Given the description of an element on the screen output the (x, y) to click on. 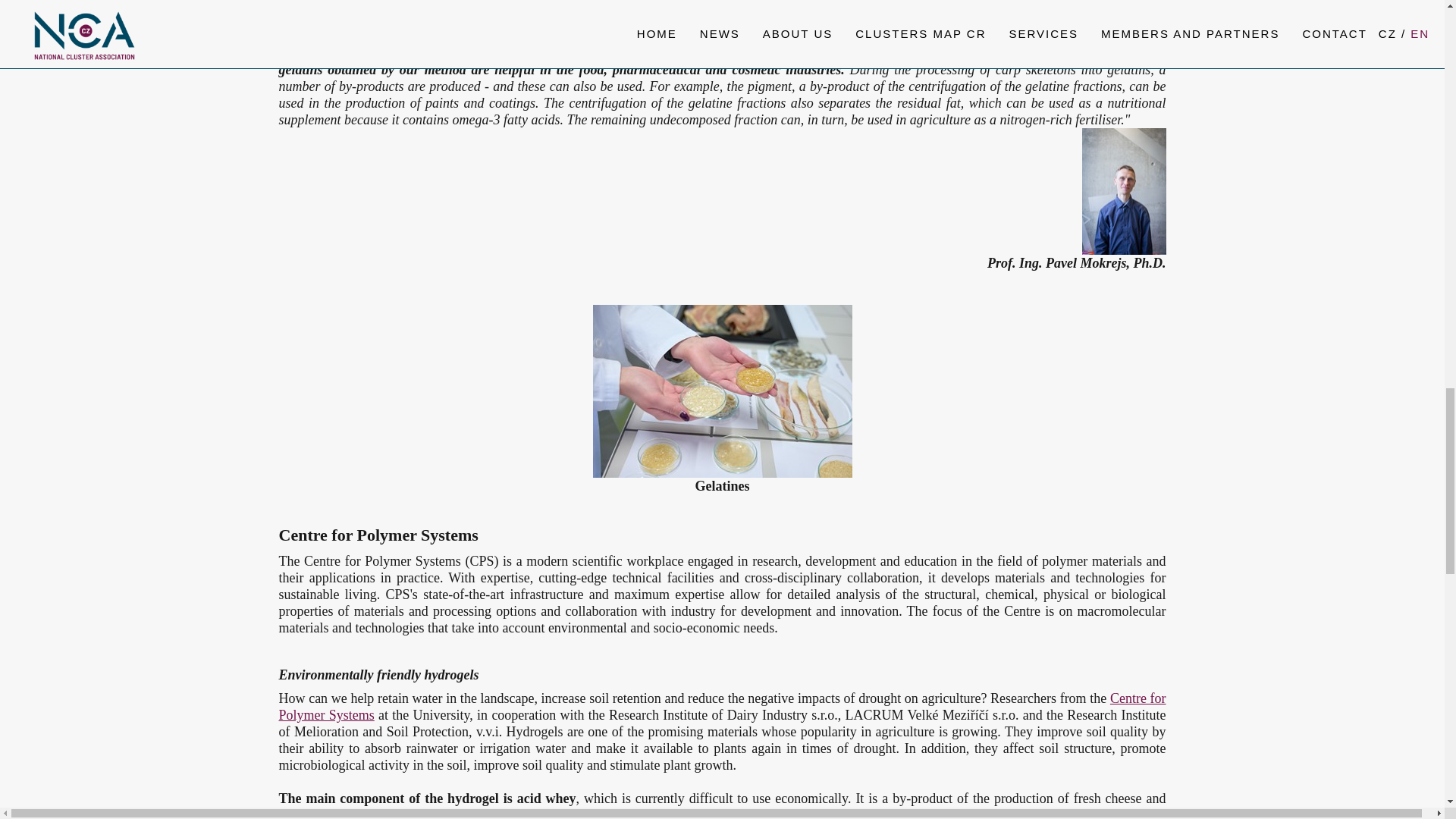
Centre for Polymer Systems (722, 706)
